Given the description of an element on the screen output the (x, y) to click on. 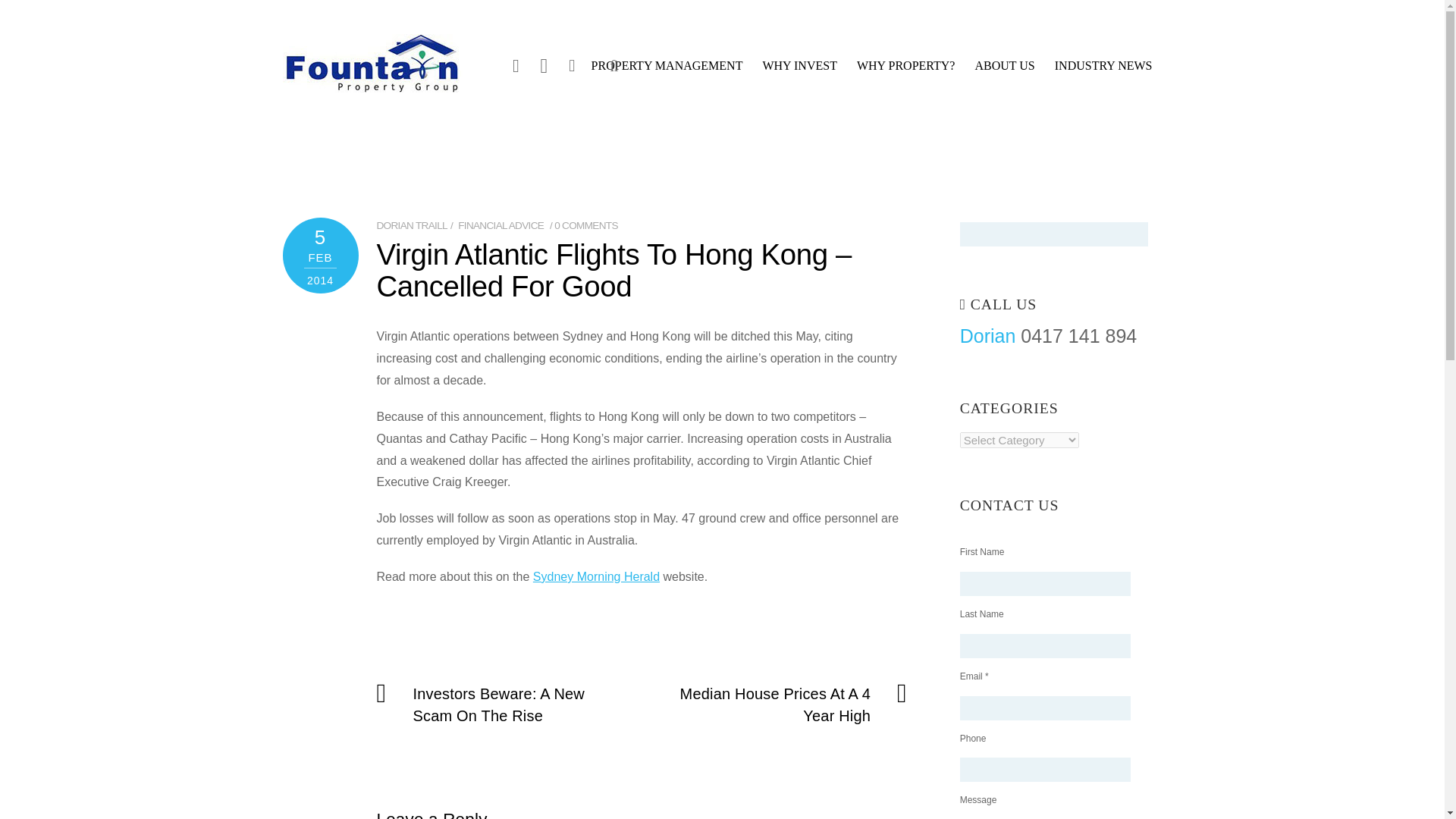
Search (606, 66)
ABOUT US (1004, 71)
Dorian (987, 335)
Investors Beware: A New Scam On The Rise (500, 705)
DORIAN TRAILL (410, 225)
Sydney Morning Herald (595, 576)
INDUSTRY NEWS (1103, 71)
WHY PROPERTY? (905, 71)
PROPERTY MANAGEMENT (667, 71)
FINANCIAL ADVICE (500, 225)
